Given the description of an element on the screen output the (x, y) to click on. 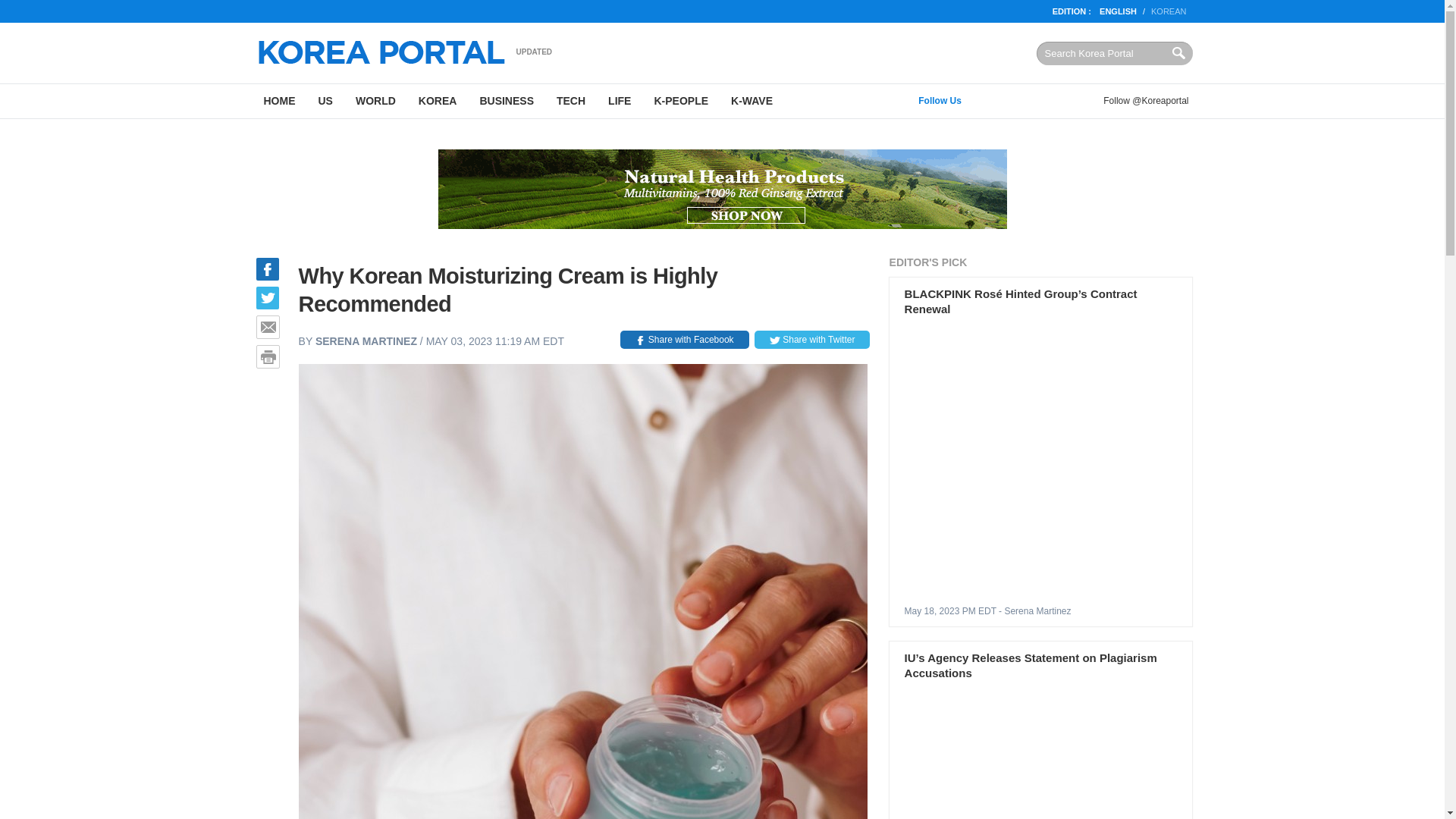
ENGLISH (1118, 10)
WORLD (375, 100)
SERENA MARTINEZ (365, 340)
LIFE (619, 100)
US (324, 100)
KOREA (437, 100)
Share with Facebook (684, 339)
K-PEOPLE (680, 100)
HOME (278, 100)
BUSINESS (505, 100)
Share with Twitter (811, 339)
K-WAVE (751, 100)
KOREAN (1168, 10)
TECH (570, 100)
